Given the description of an element on the screen output the (x, y) to click on. 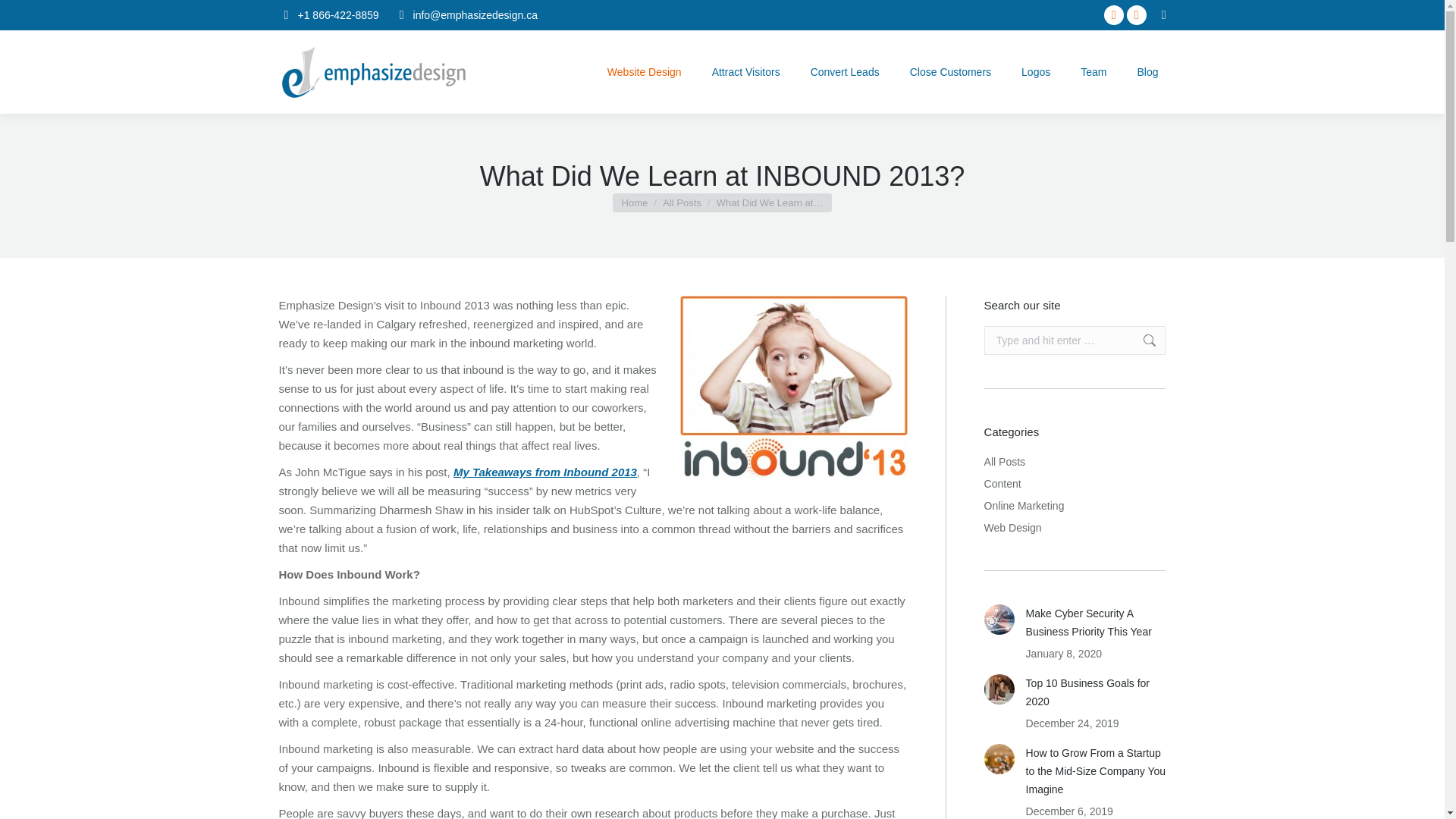
X page opens in new window (1136, 14)
Attracting Quality Visitors (745, 71)
X page opens in new window (1136, 14)
Attract Visitors (745, 71)
Facebook page opens in new window (1113, 14)
Convert Leads (844, 71)
Blog (1147, 71)
Converting Qualified Leads (844, 71)
Close Customers (950, 71)
Logos (1035, 71)
Go! (24, 16)
Website Design (643, 71)
Team (1093, 71)
Facebook page opens in new window (1113, 14)
Calgary Website Design Services (643, 71)
